Given the description of an element on the screen output the (x, y) to click on. 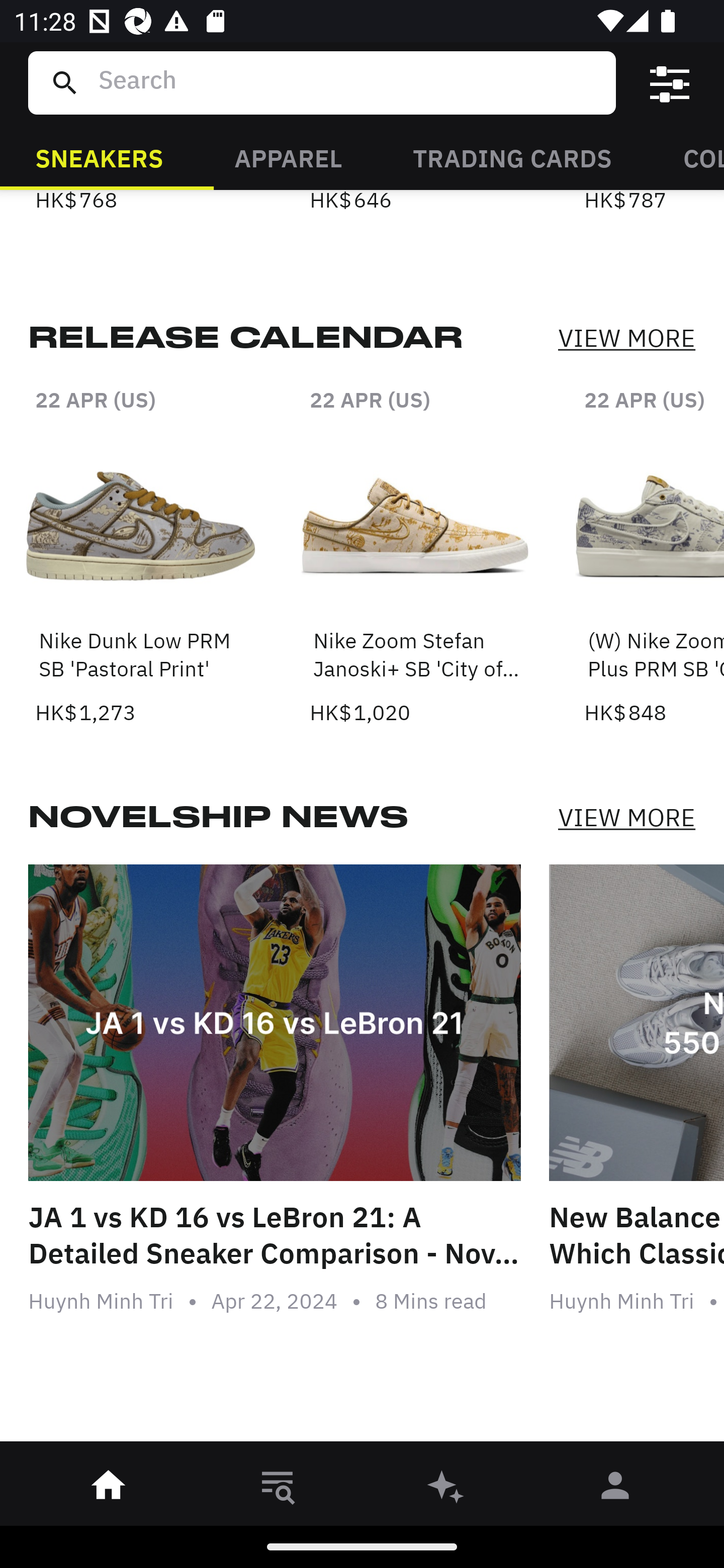
Search (349, 82)
 (669, 82)
SNEAKERS (99, 156)
APPAREL (287, 156)
TRADING CARDS (512, 156)
VIEW MORE (626, 338)
VIEW MORE (626, 816)
󰋜 (108, 1488)
󱎸 (277, 1488)
󰫢 (446, 1488)
󰀄 (615, 1488)
